Given the description of an element on the screen output the (x, y) to click on. 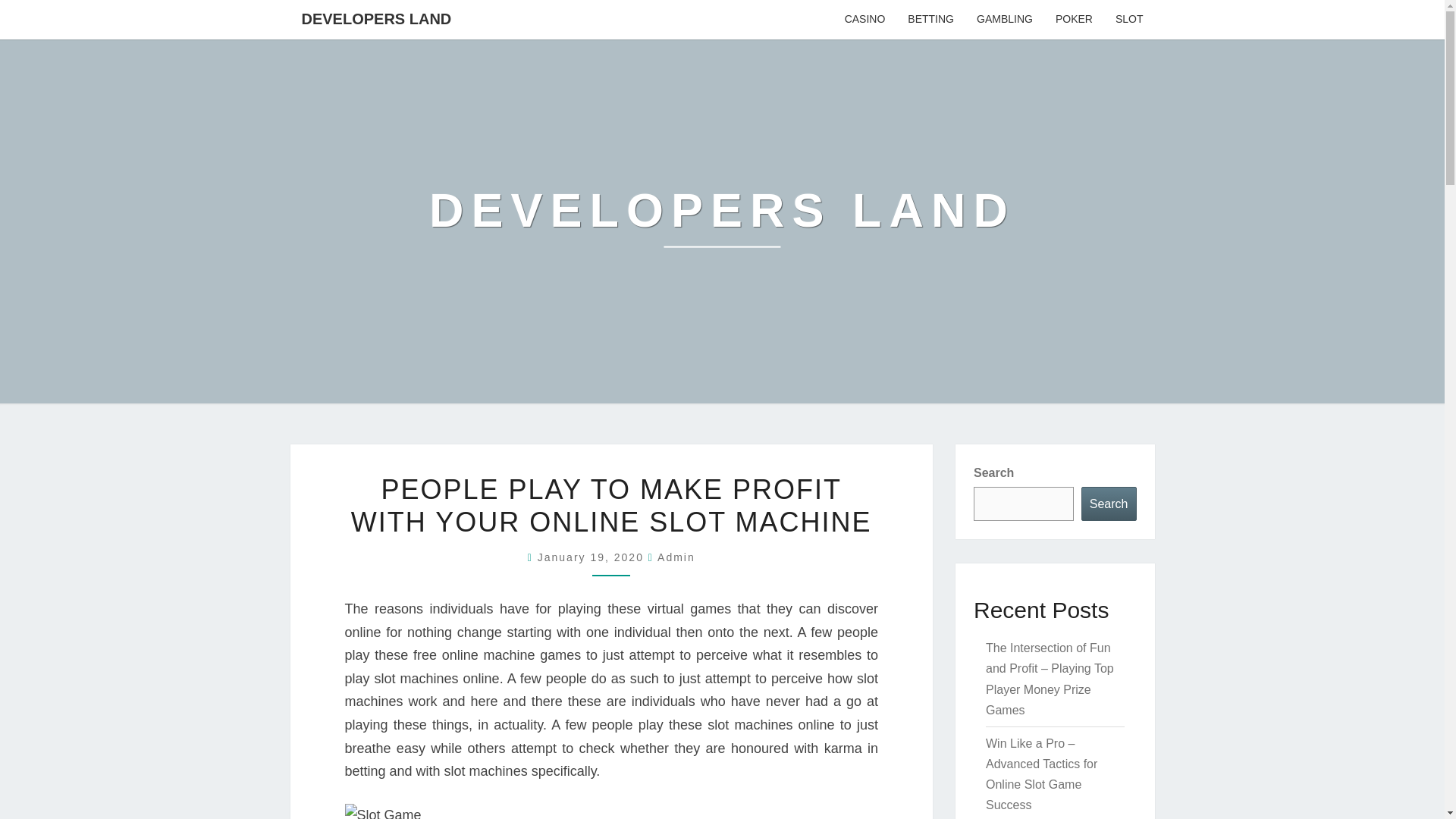
January 19, 2020 (592, 557)
5:51 am (592, 557)
Search (1109, 503)
BETTING (930, 19)
POKER (1073, 19)
SLOT (1128, 19)
GAMBLING (1004, 19)
Developers Land (721, 220)
Admin (676, 557)
View all posts by admin (676, 557)
DEVELOPERS LAND (721, 220)
CASINO (864, 19)
DEVELOPERS LAND (376, 18)
